Given the description of an element on the screen output the (x, y) to click on. 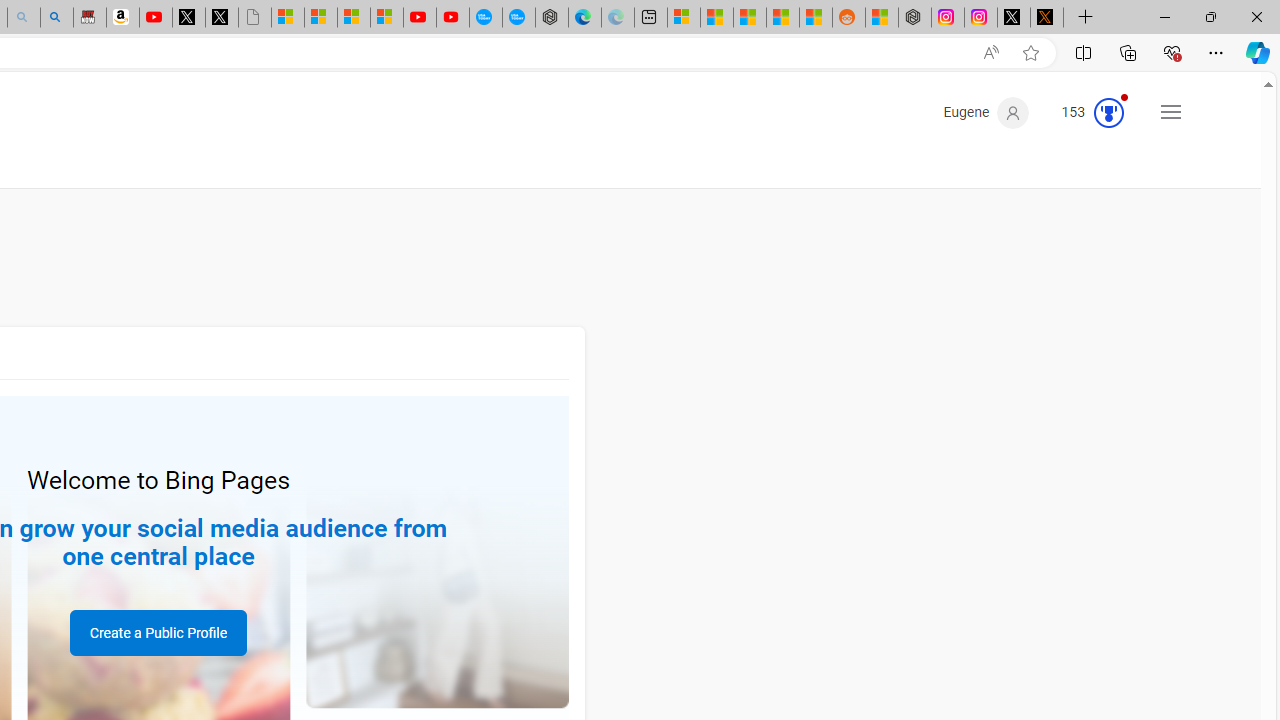
Eugene (986, 112)
Nordace - Nordace has arrived Hong Kong (552, 17)
Create a Public Profile (158, 632)
Microsoft account | Microsoft Account Privacy Settings (684, 17)
Shanghai, China hourly forecast | Microsoft Weather (749, 17)
Day 1: Arriving in Yemen (surreal to be here) - YouTube (155, 17)
Microsoft Rewards 153 (1084, 112)
